Given the description of an element on the screen output the (x, y) to click on. 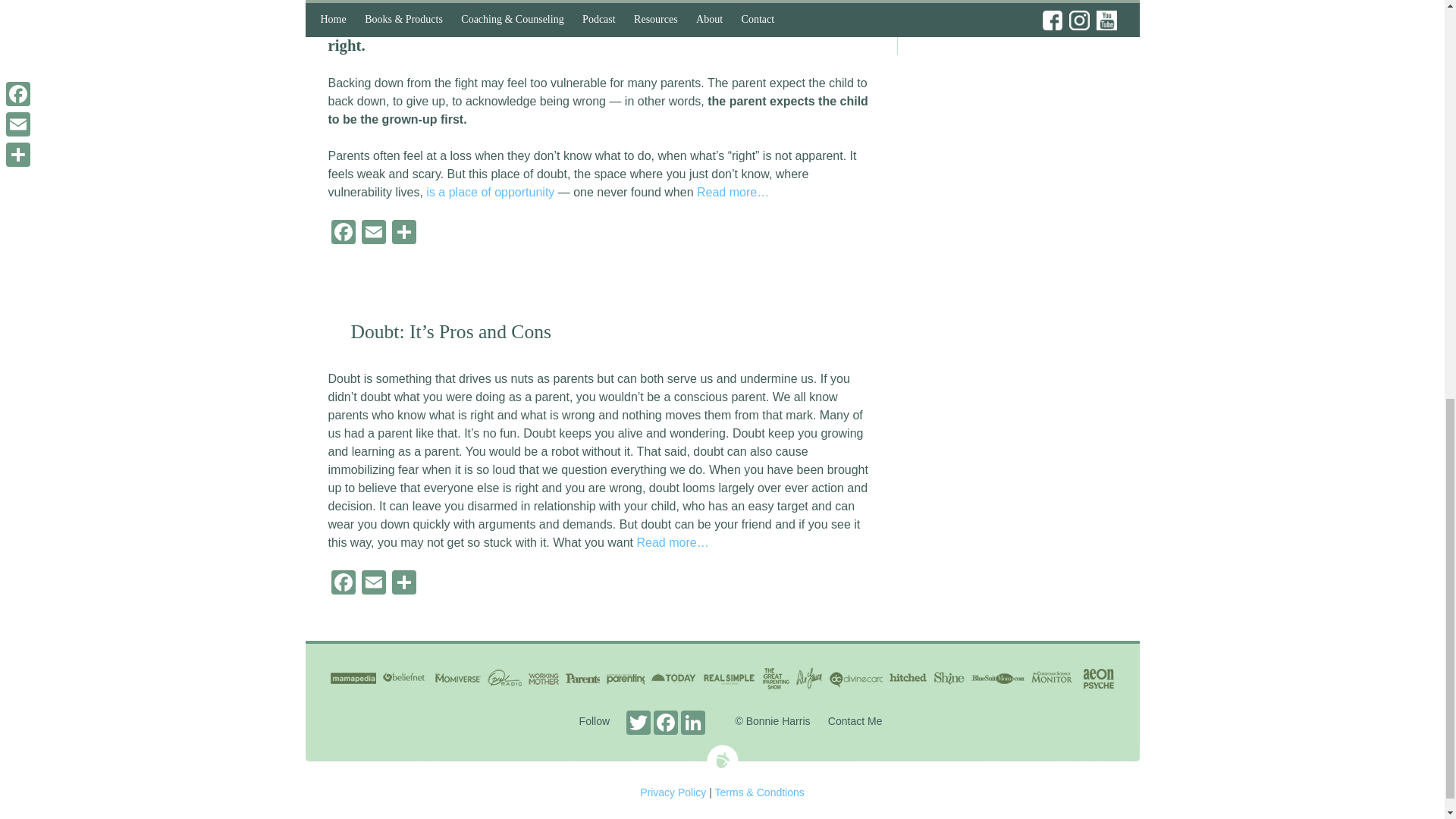
Email (373, 234)
Share (403, 234)
is a place of opportunity (488, 192)
Facebook (342, 234)
Facebook (342, 234)
Email (373, 234)
Facebook (342, 584)
Share (403, 584)
Email (373, 584)
Facebook (342, 584)
Email (373, 584)
